Given the description of an element on the screen output the (x, y) to click on. 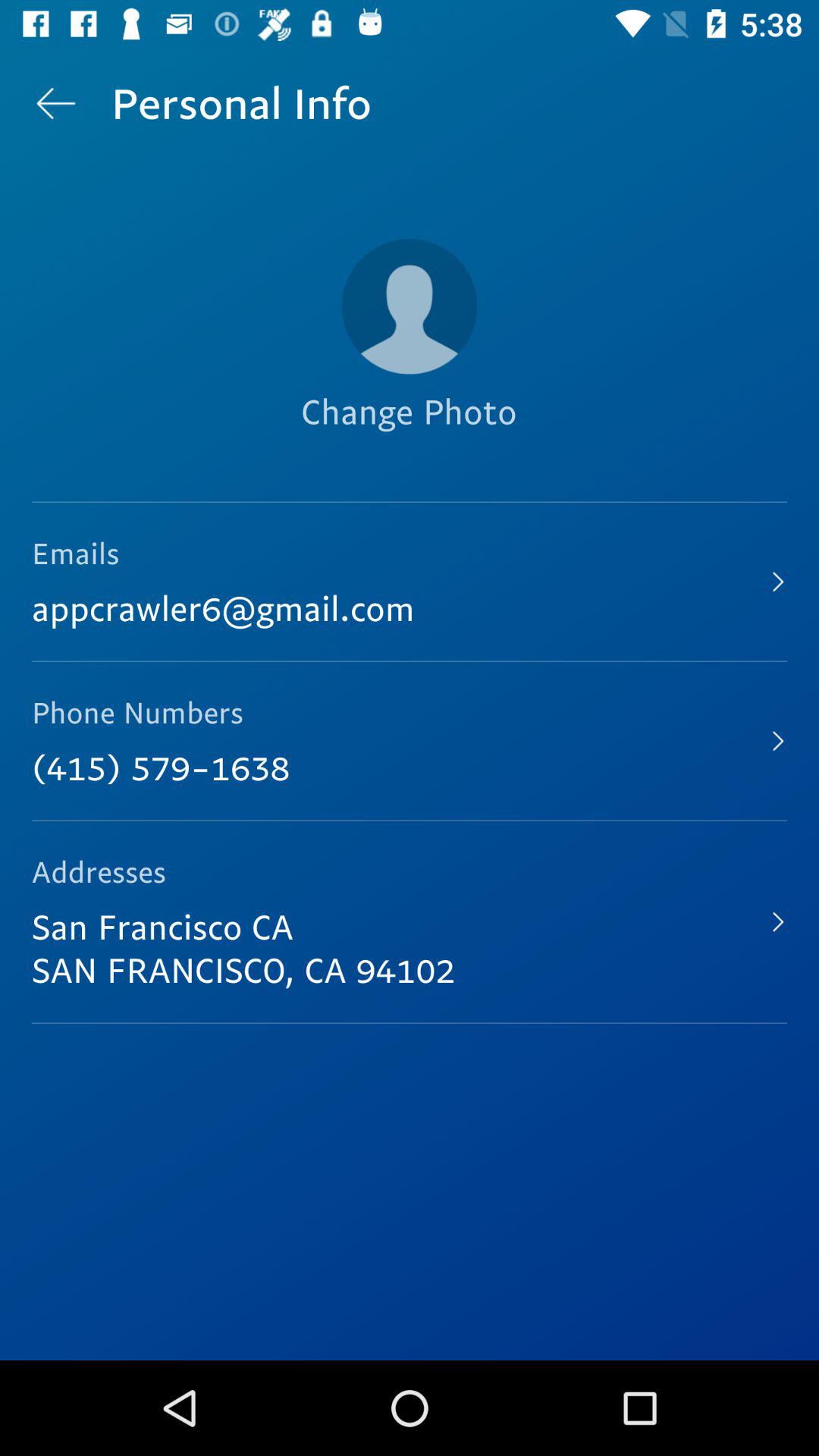
turn on the item below the personal info item (409, 306)
